Given the description of an element on the screen output the (x, y) to click on. 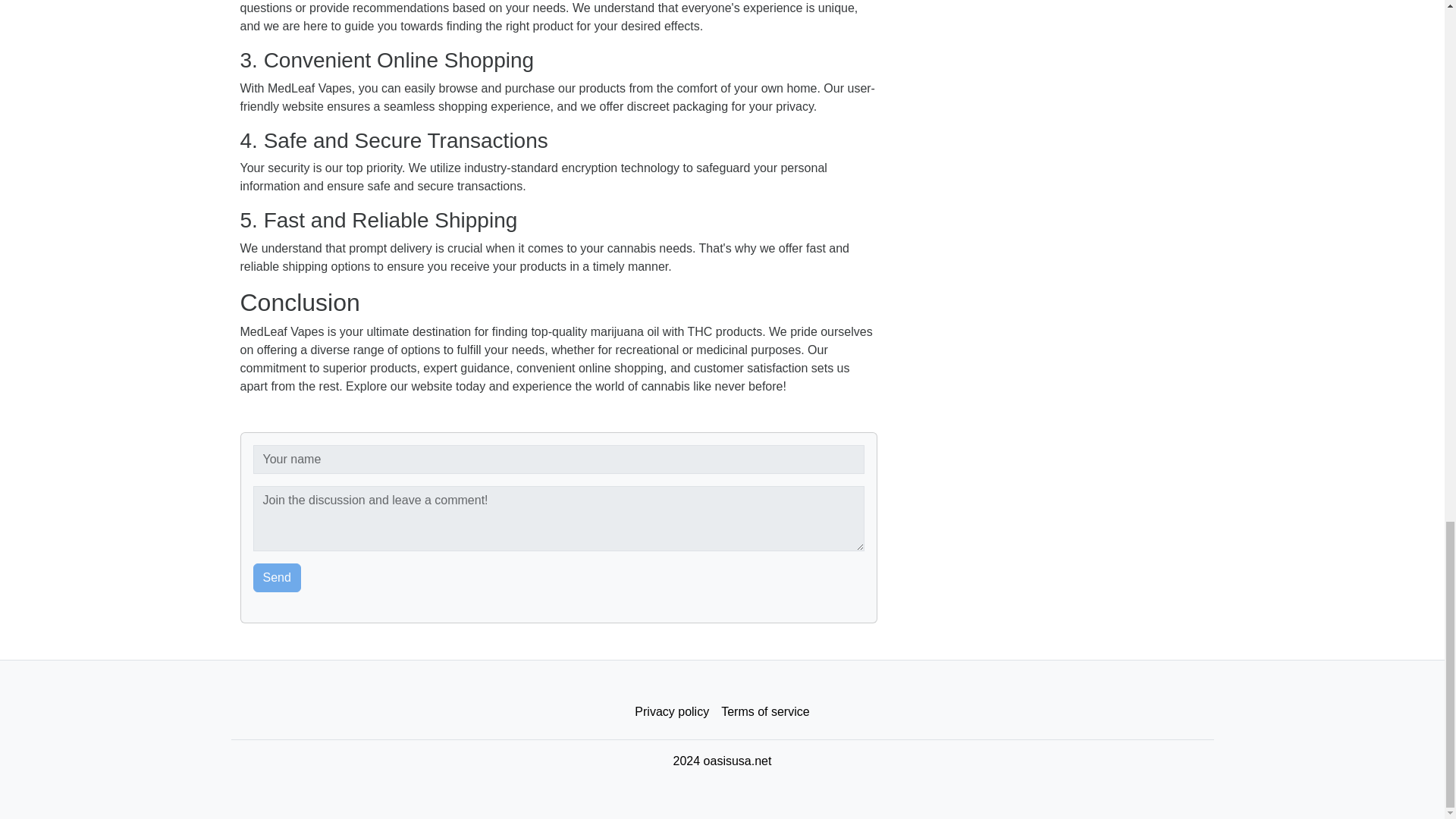
Privacy policy (671, 711)
Send (277, 577)
Terms of service (764, 711)
Send (277, 577)
